Given the description of an element on the screen output the (x, y) to click on. 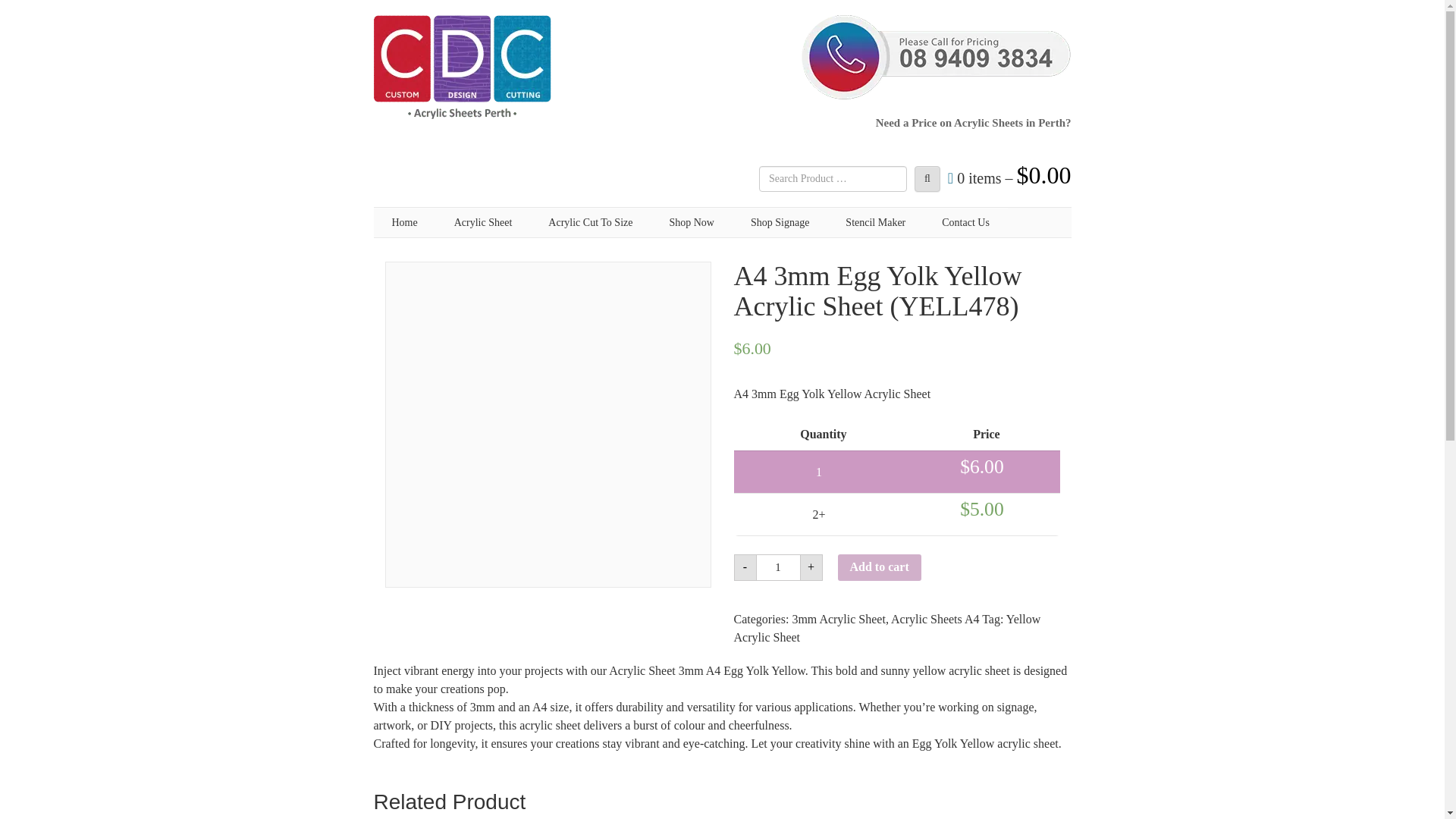
Add to cart (878, 567)
Home (403, 223)
Contact Us (965, 223)
Qty (778, 567)
Acrylic Sheets A4 (934, 618)
Yellow Acrylic Sheet (887, 627)
Acrylic Cut To Size (589, 223)
1 (778, 567)
3mm Acrylic Sheet (838, 618)
41-egg-yolk-yellow-code-yell478.jpg (547, 424)
